Given the description of an element on the screen output the (x, y) to click on. 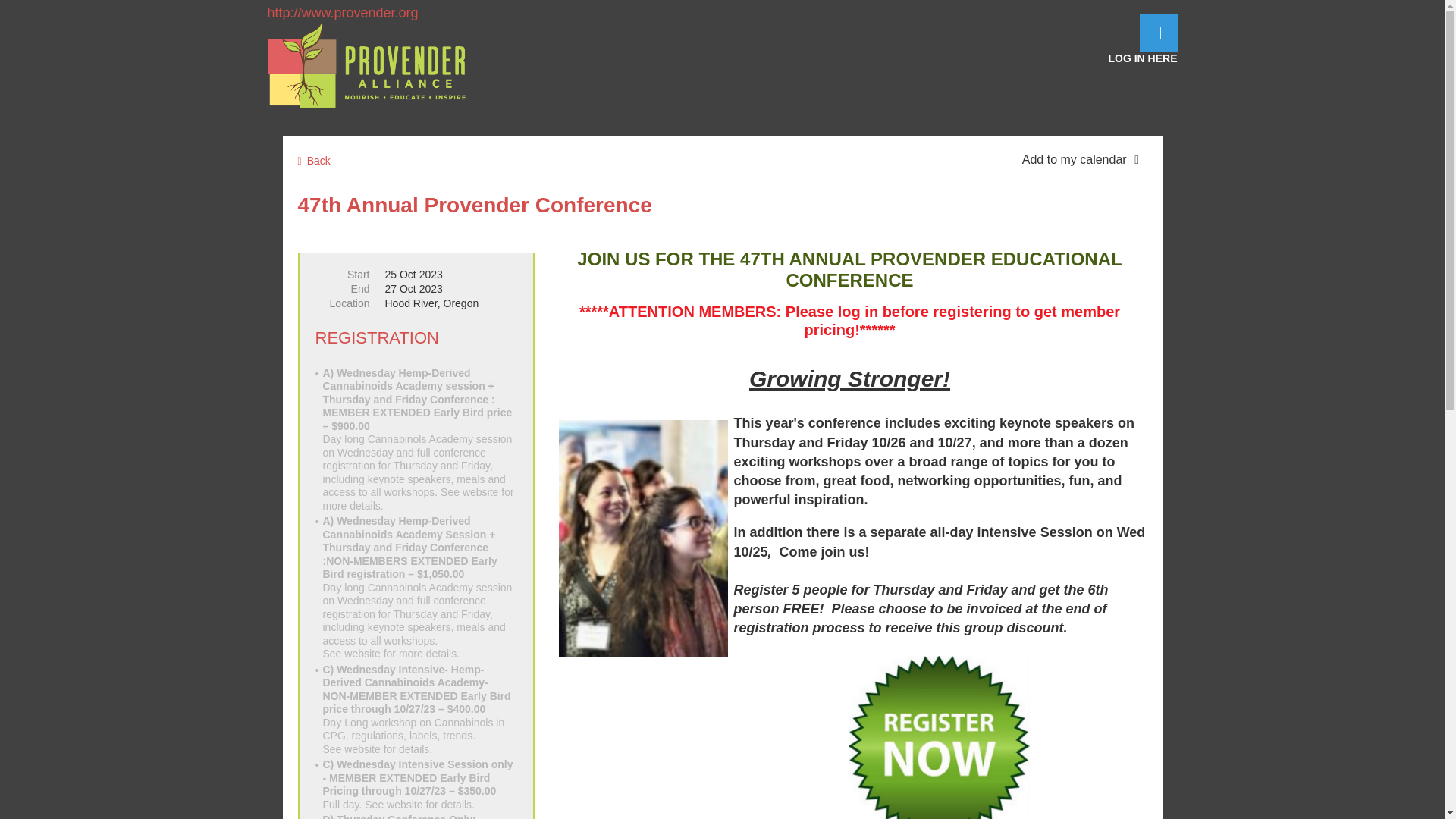
Back (420, 439)
Log in (420, 587)
